Given the description of an element on the screen output the (x, y) to click on. 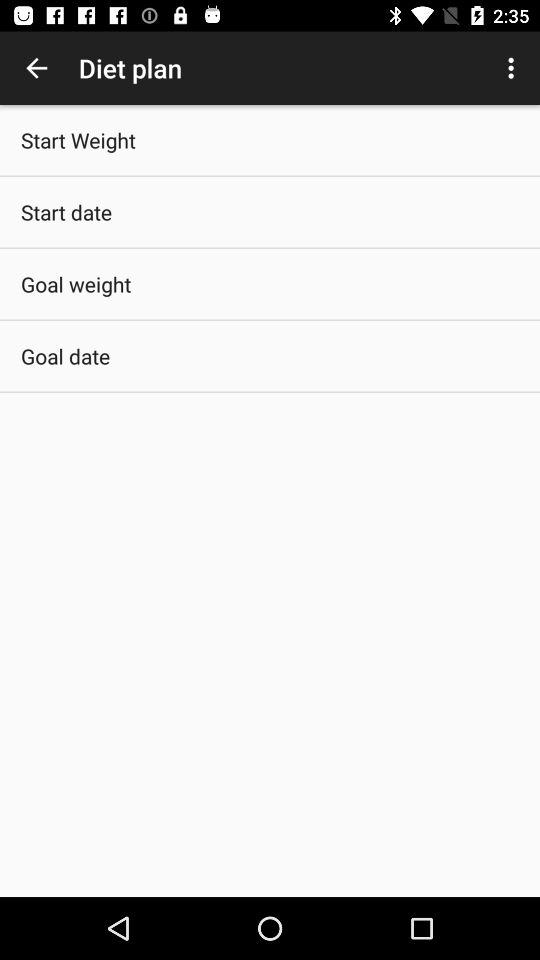
click the icon above the start date item (78, 139)
